Given the description of an element on the screen output the (x, y) to click on. 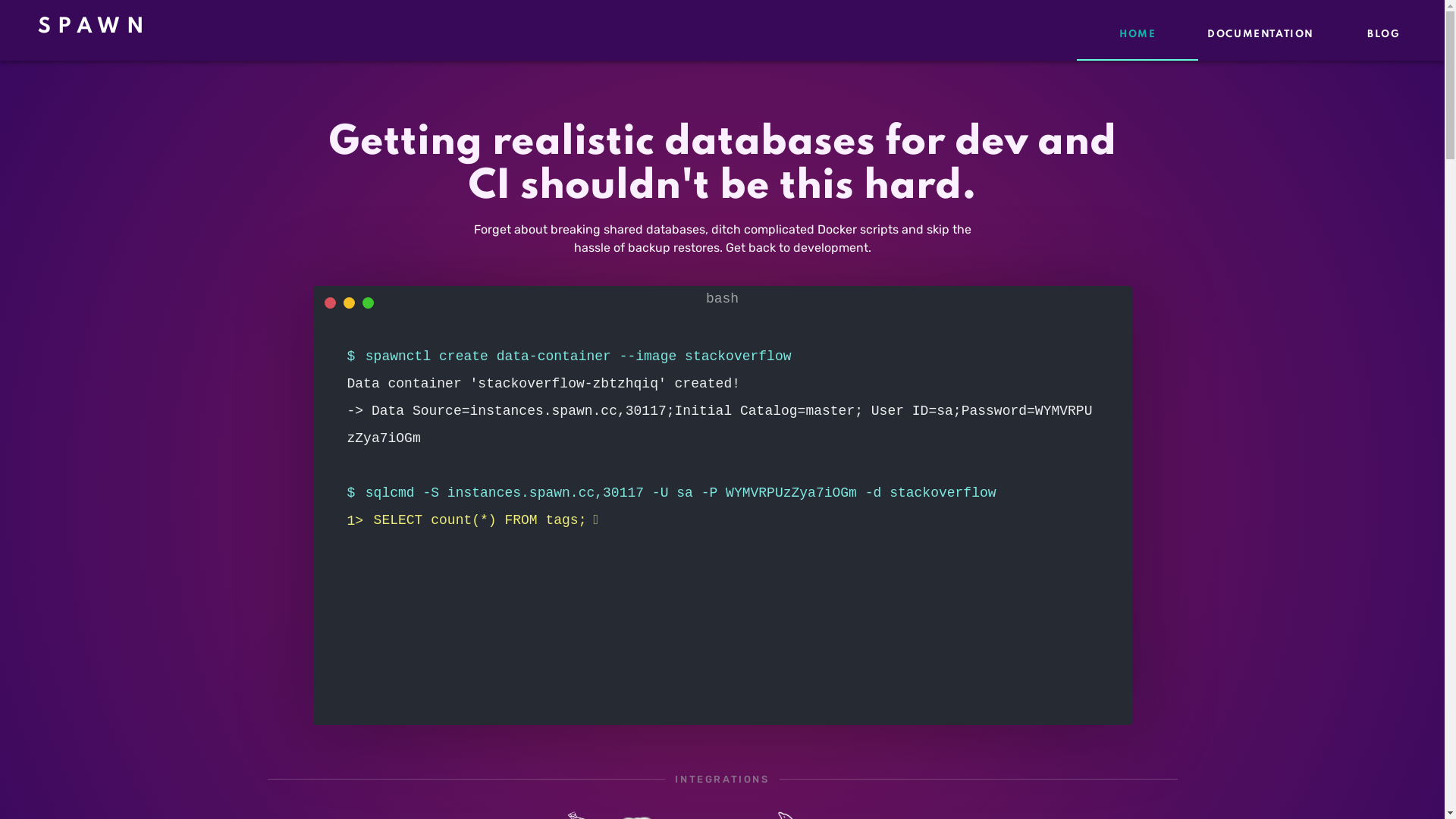
BLOG Element type: text (1383, 30)
DOCUMENTATION Element type: text (1260, 30)
HOME Element type: text (1137, 30)
